Given the description of an element on the screen output the (x, y) to click on. 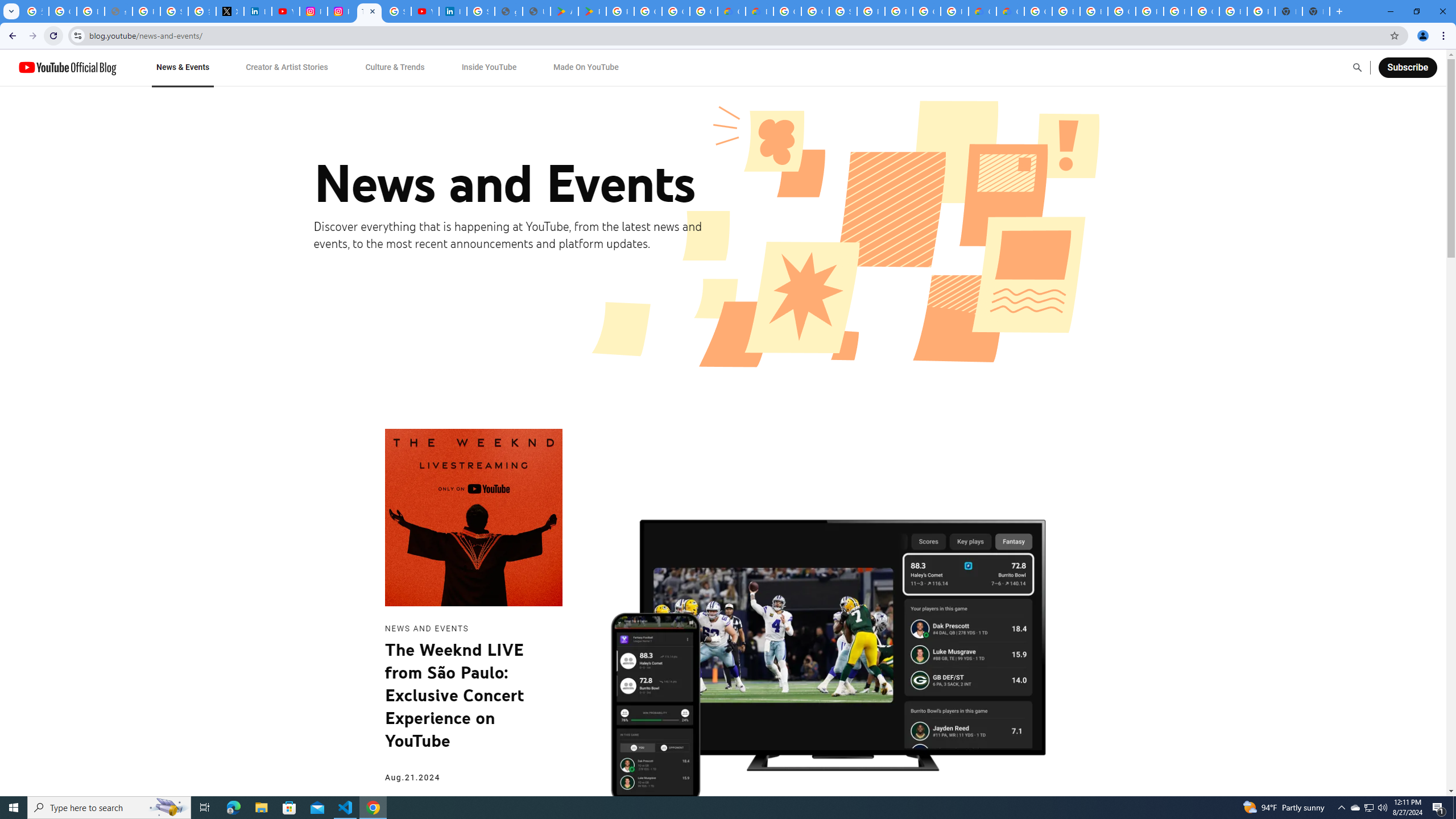
YouTube Content Monetization Policies - How YouTube Works (285, 11)
Google Cloud Platform (1205, 11)
Subscribe (1407, 67)
Privacy Help Center - Policies Help (146, 11)
User Details (536, 11)
Android Apps on Google Play (564, 11)
Browse Chrome as a guest - Computer - Google Chrome Help (1093, 11)
Google Workspace - Specific Terms (675, 11)
New Tab (1316, 11)
